Given the description of an element on the screen output the (x, y) to click on. 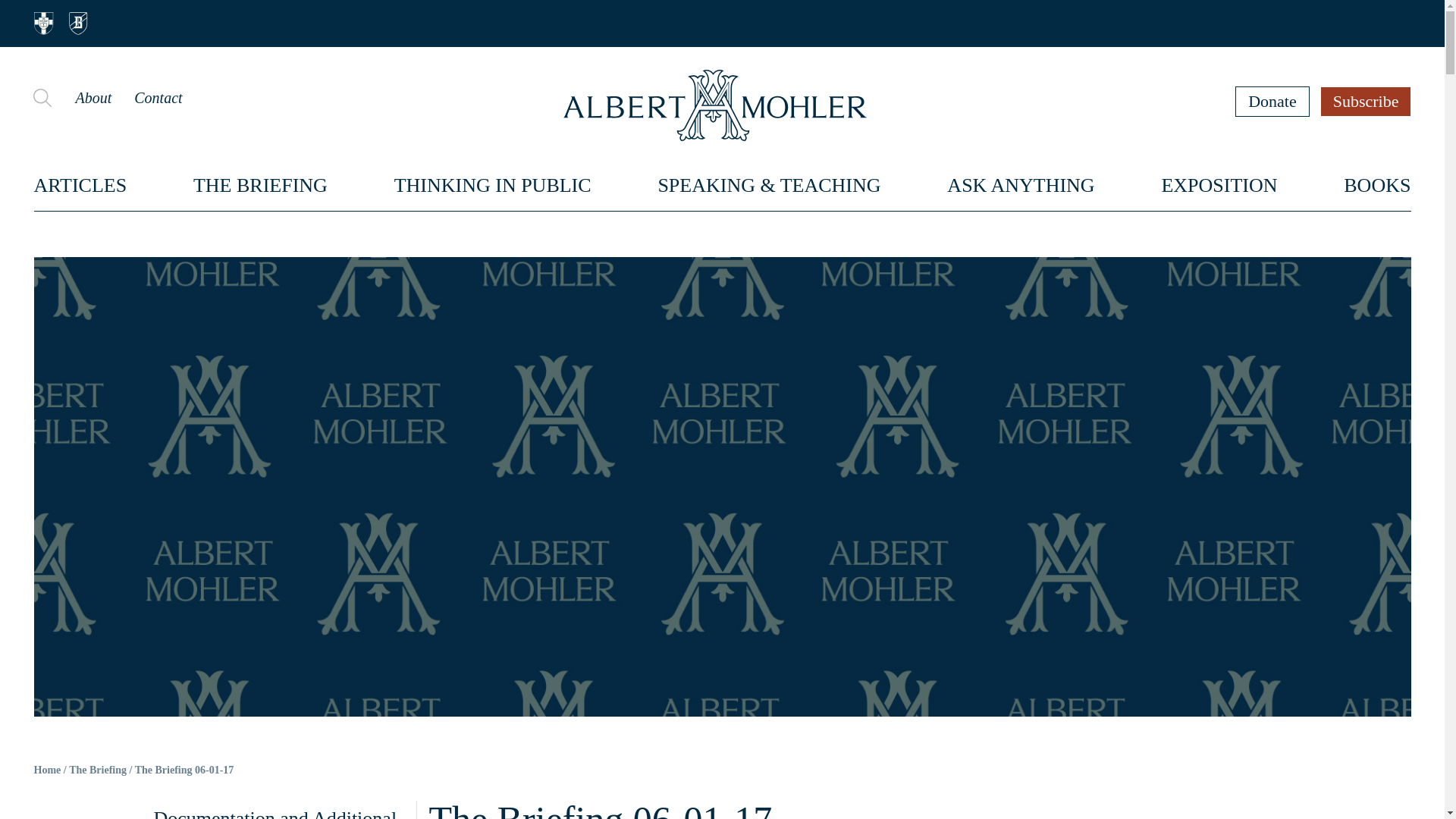
Contact (157, 97)
THINKING IN PUBLIC (492, 185)
Donate (1272, 101)
EXPOSITION (1218, 185)
ARTICLES (79, 185)
Home (47, 770)
THE BRIEFING (260, 185)
Subscribe (1366, 101)
BOOKS (1376, 185)
The Briefing (97, 770)
About (93, 97)
ASK ANYTHING (1020, 185)
